Given the description of an element on the screen output the (x, y) to click on. 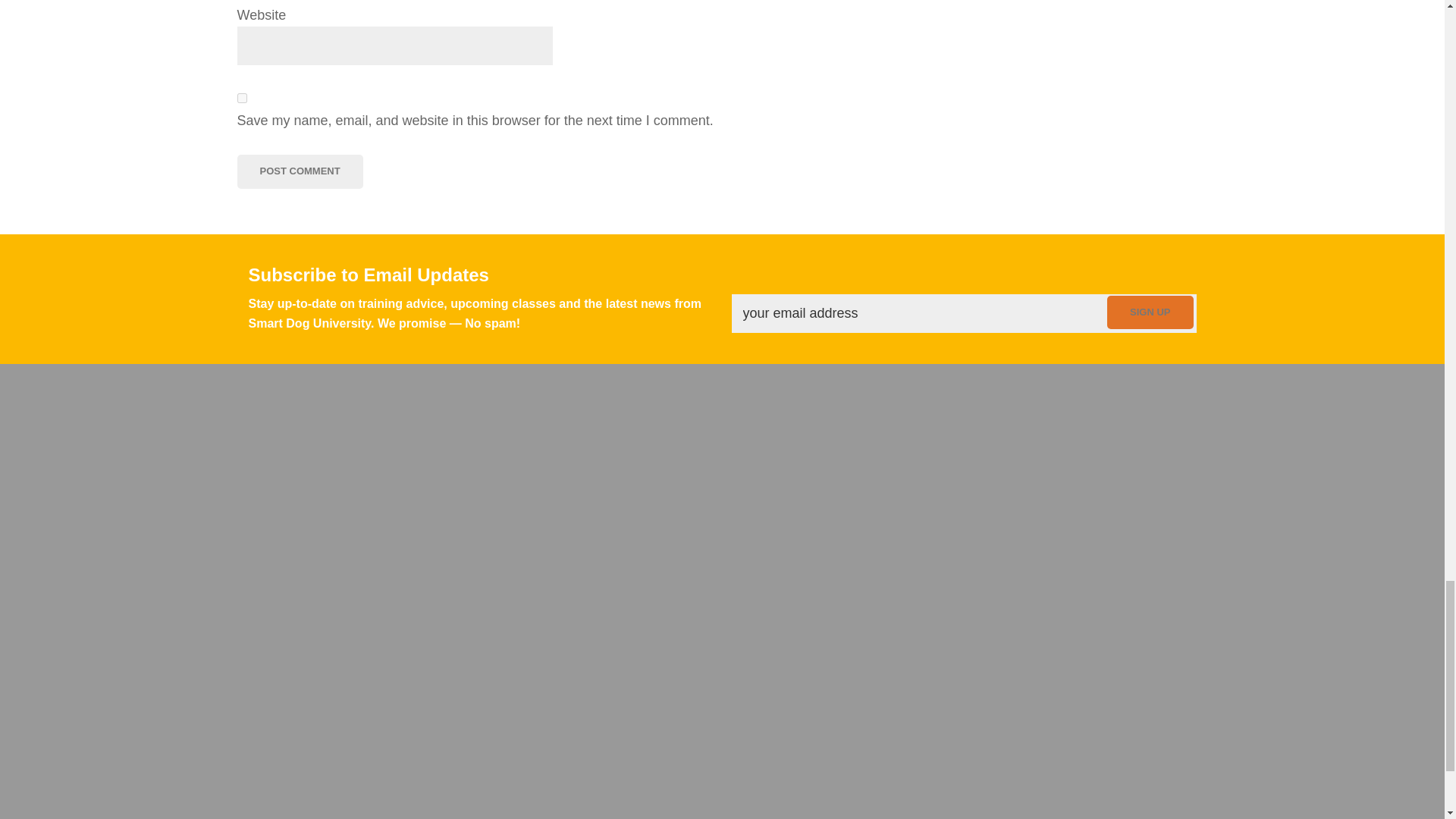
Sign Up (1149, 312)
Post Comment (298, 171)
Post Comment (298, 171)
yes (240, 98)
